Given the description of an element on the screen output the (x, y) to click on. 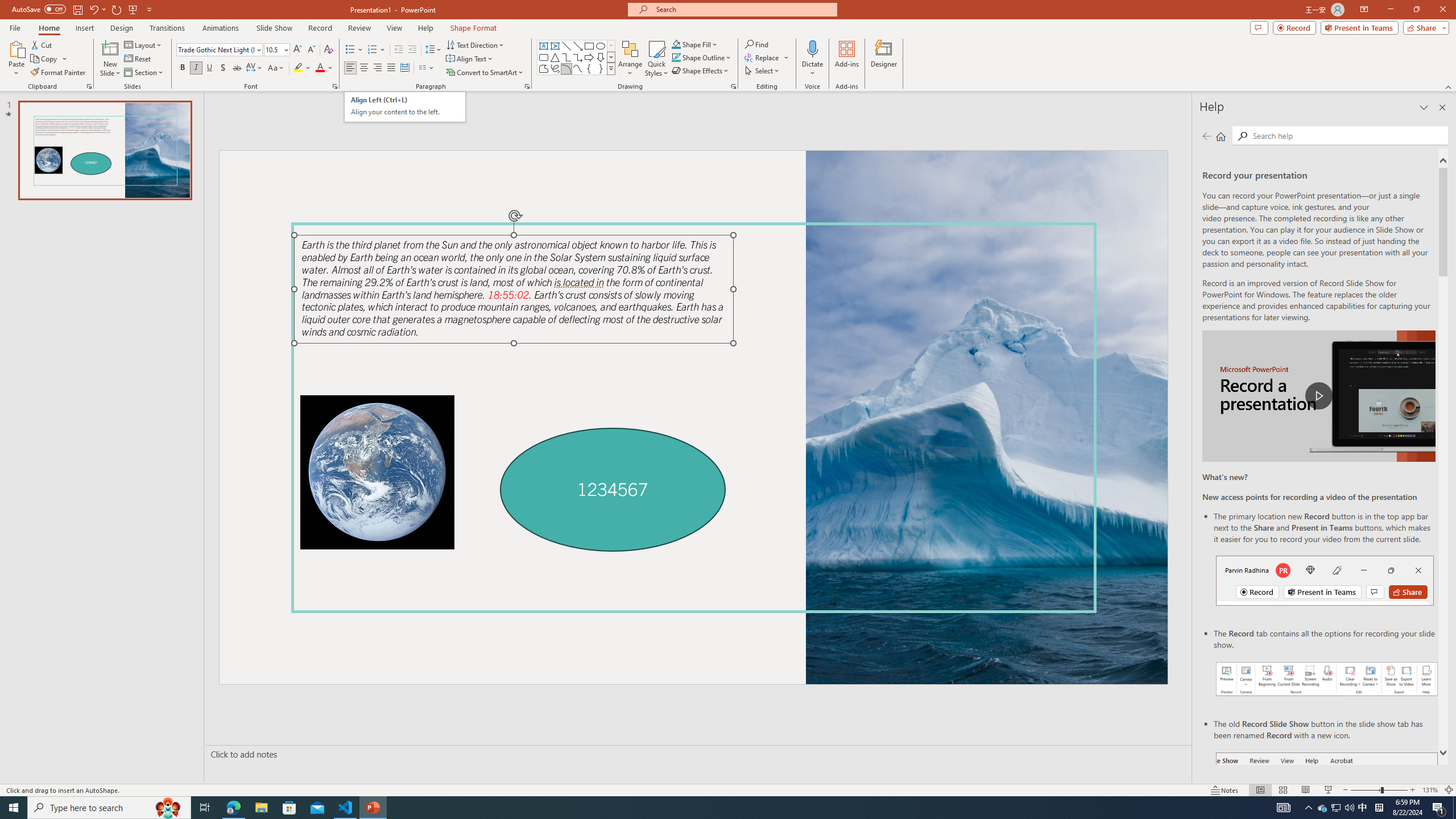
Record button in top bar (1324, 580)
Shape Outline Teal, Accent 1 (675, 56)
